Given the description of an element on the screen output the (x, y) to click on. 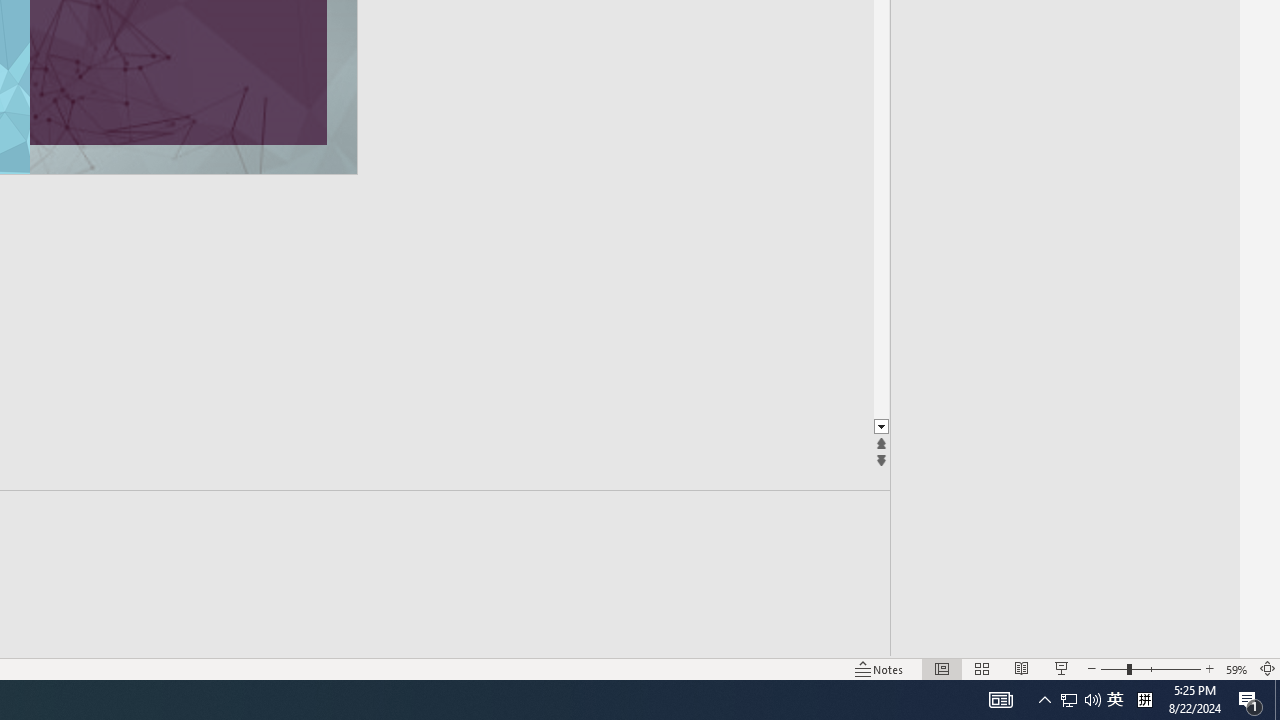
Zoom 59% (1236, 668)
